Given the description of an element on the screen output the (x, y) to click on. 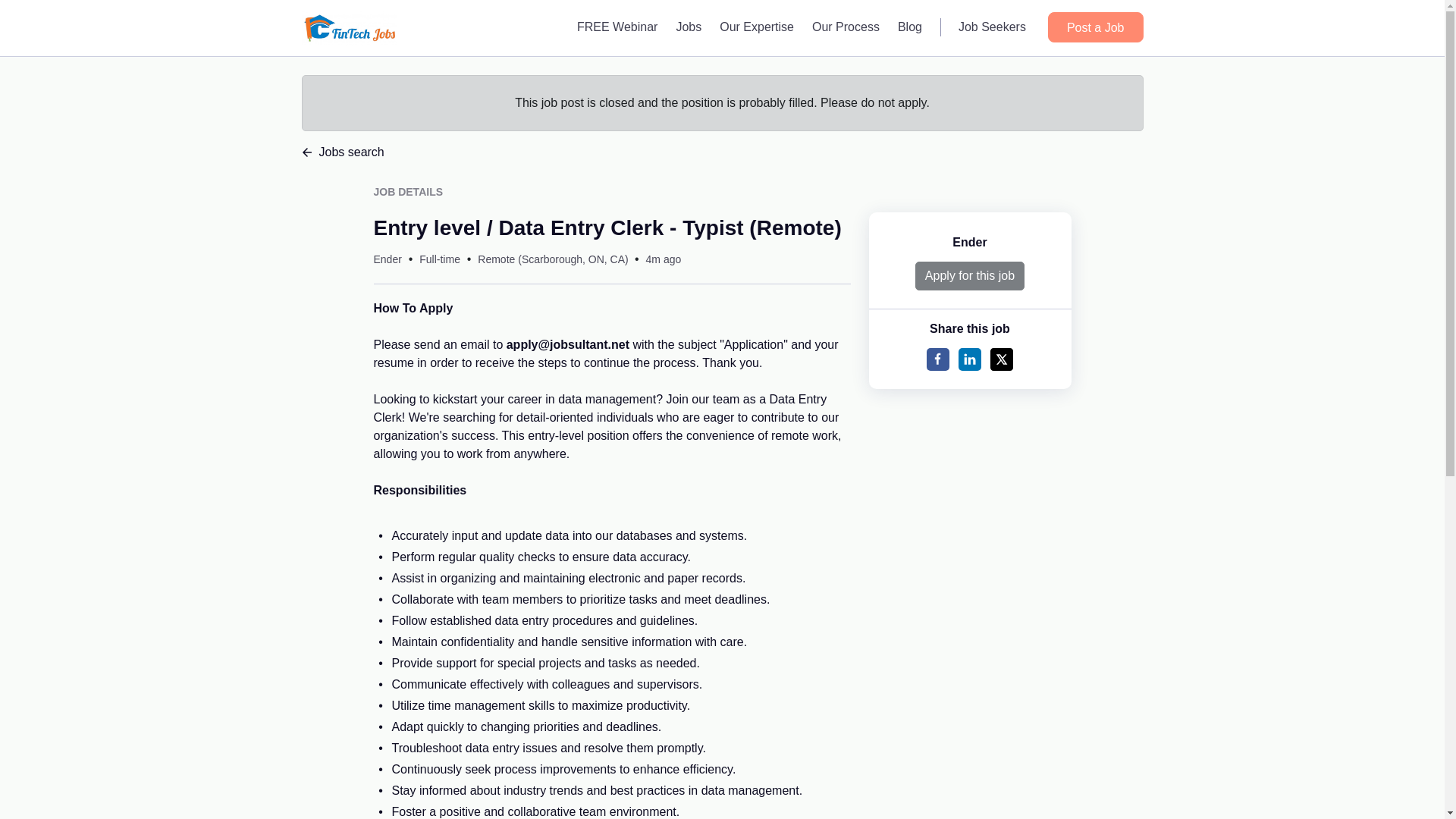
Jobs search (721, 152)
Our Expertise (756, 26)
Jobs (688, 26)
Share to Twitter (1001, 359)
Post a Job (1095, 27)
Apply for this job (970, 275)
Share to Linkedin (969, 359)
Full-time (439, 259)
Blog (909, 26)
Our Process (845, 26)
